Given the description of an element on the screen output the (x, y) to click on. 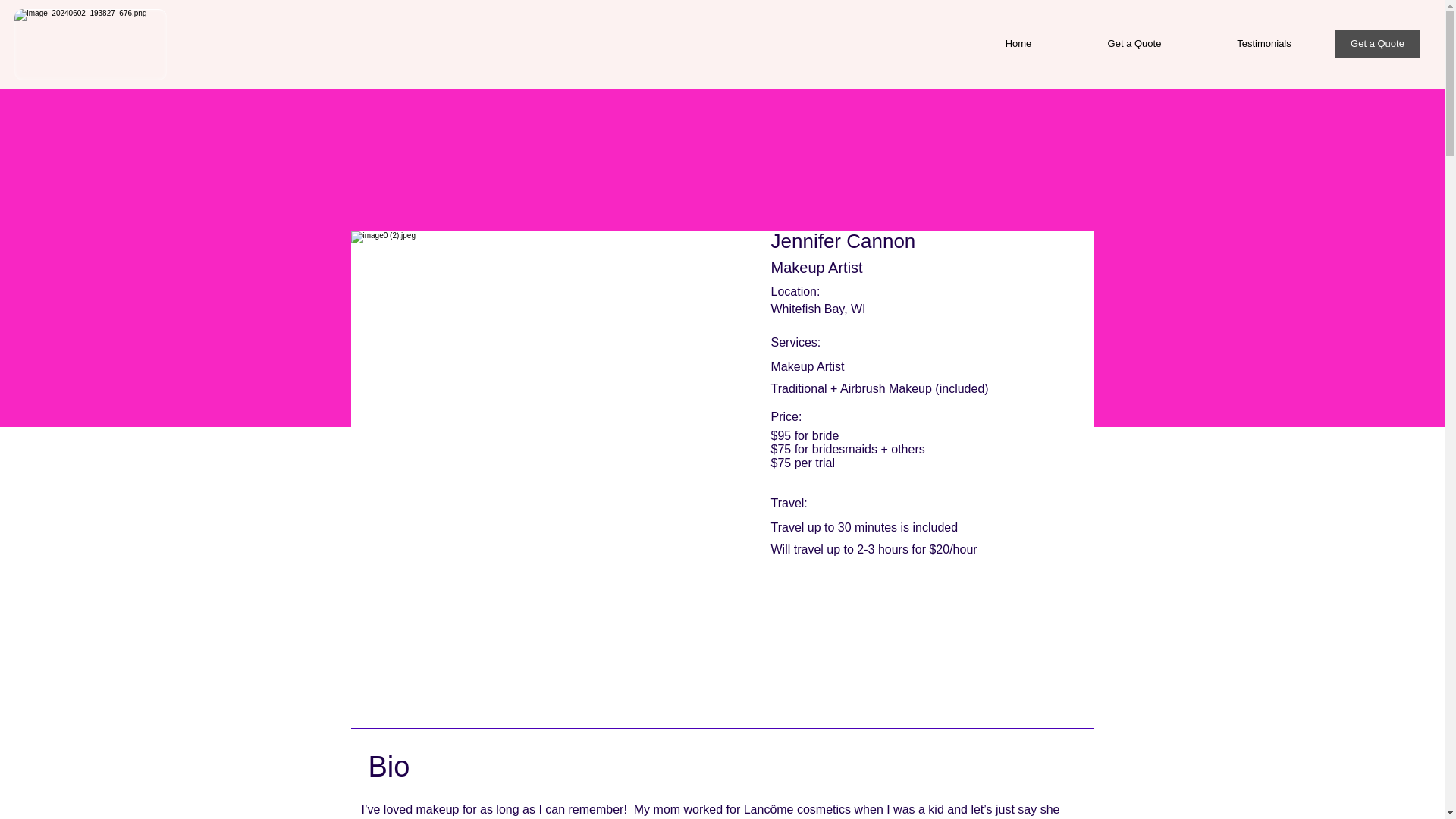
Get a Quote (1134, 43)
Home (1018, 43)
Get a Quote (1378, 44)
Testimonials (1263, 43)
